Given the description of an element on the screen output the (x, y) to click on. 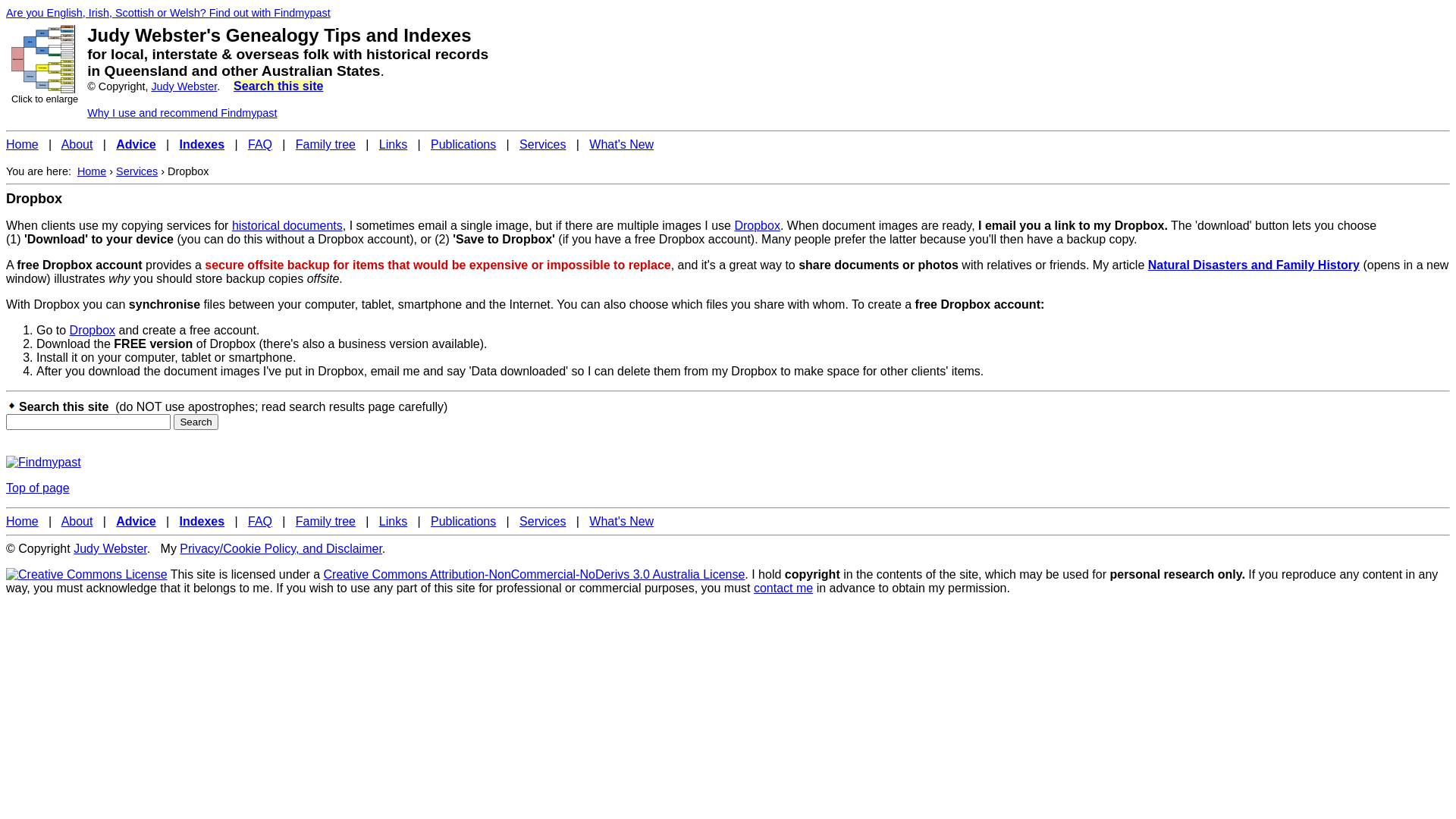
Links Element type: text (393, 520)
Home Element type: text (22, 520)
About Element type: text (77, 144)
What's New Element type: text (621, 520)
Why I use and recommend Findmypast Element type: text (181, 112)
Links Element type: text (393, 144)
  Element type: text (334, 12)
Services Element type: text (542, 144)
Judy Webster Element type: text (110, 548)
Services Element type: text (542, 520)
Family tree Element type: text (325, 144)
Publications Element type: text (462, 144)
contact me Element type: text (782, 587)
Services Element type: text (136, 171)
FAQ Element type: text (259, 144)
About Element type: text (77, 520)
Advice Element type: text (135, 520)
historical documents Element type: text (287, 225)
Search Element type: text (195, 421)
Natural Disasters and Family History Element type: text (1253, 264)
What's New Element type: text (621, 144)
Home Element type: text (22, 144)
Publications Element type: text (462, 520)
Judy Webster Element type: text (183, 86)
Indexes Element type: text (202, 520)
Top of page Element type: text (37, 487)
Dropbox Element type: text (92, 329)
Privacy/Cookie Policy, and Disclaimer Element type: text (280, 548)
Dropbox Element type: text (756, 225)
Search this site Element type: text (278, 85)
Indexes Element type: text (202, 144)
Home Element type: text (91, 171)
FAQ Element type: text (259, 520)
Family tree Element type: text (325, 520)
Advice Element type: text (135, 144)
